Given the description of an element on the screen output the (x, y) to click on. 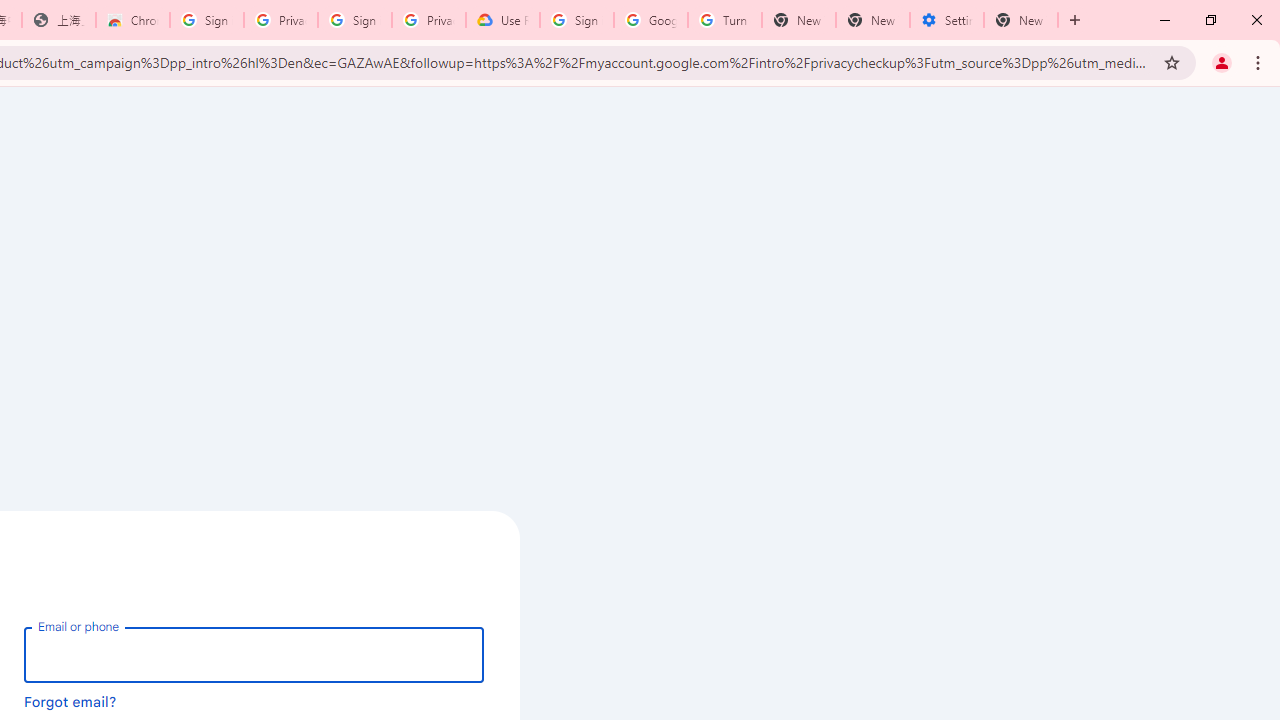
Chrome Web Store - Color themes by Chrome (133, 20)
New Tab (1021, 20)
Sign in - Google Accounts (207, 20)
Forgot email? (70, 701)
Settings - System (947, 20)
Sign in - Google Accounts (577, 20)
